Given the description of an element on the screen output the (x, y) to click on. 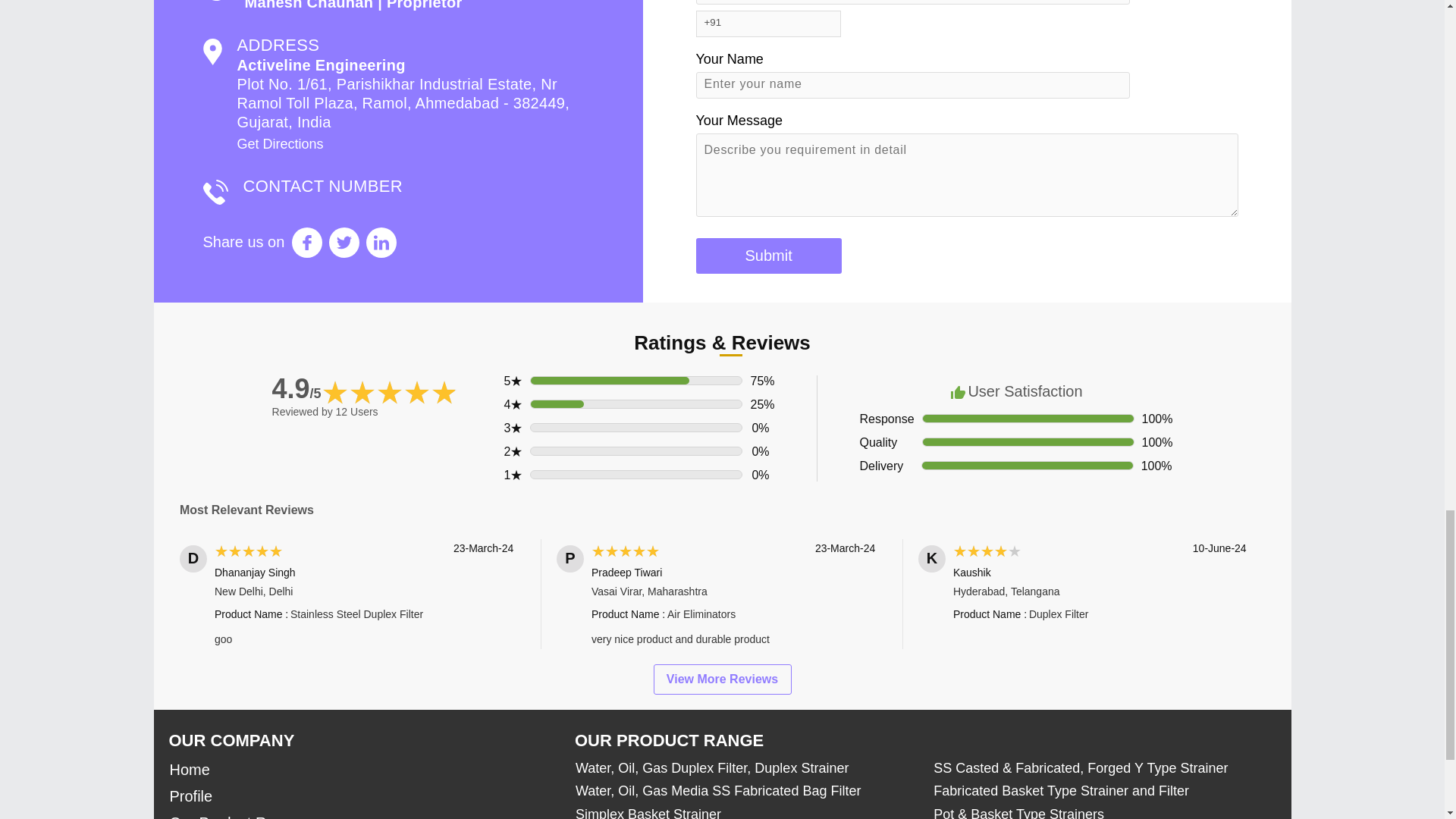
Submit (768, 255)
4.9 out of 5 Votes (296, 388)
